Given the description of an element on the screen output the (x, y) to click on. 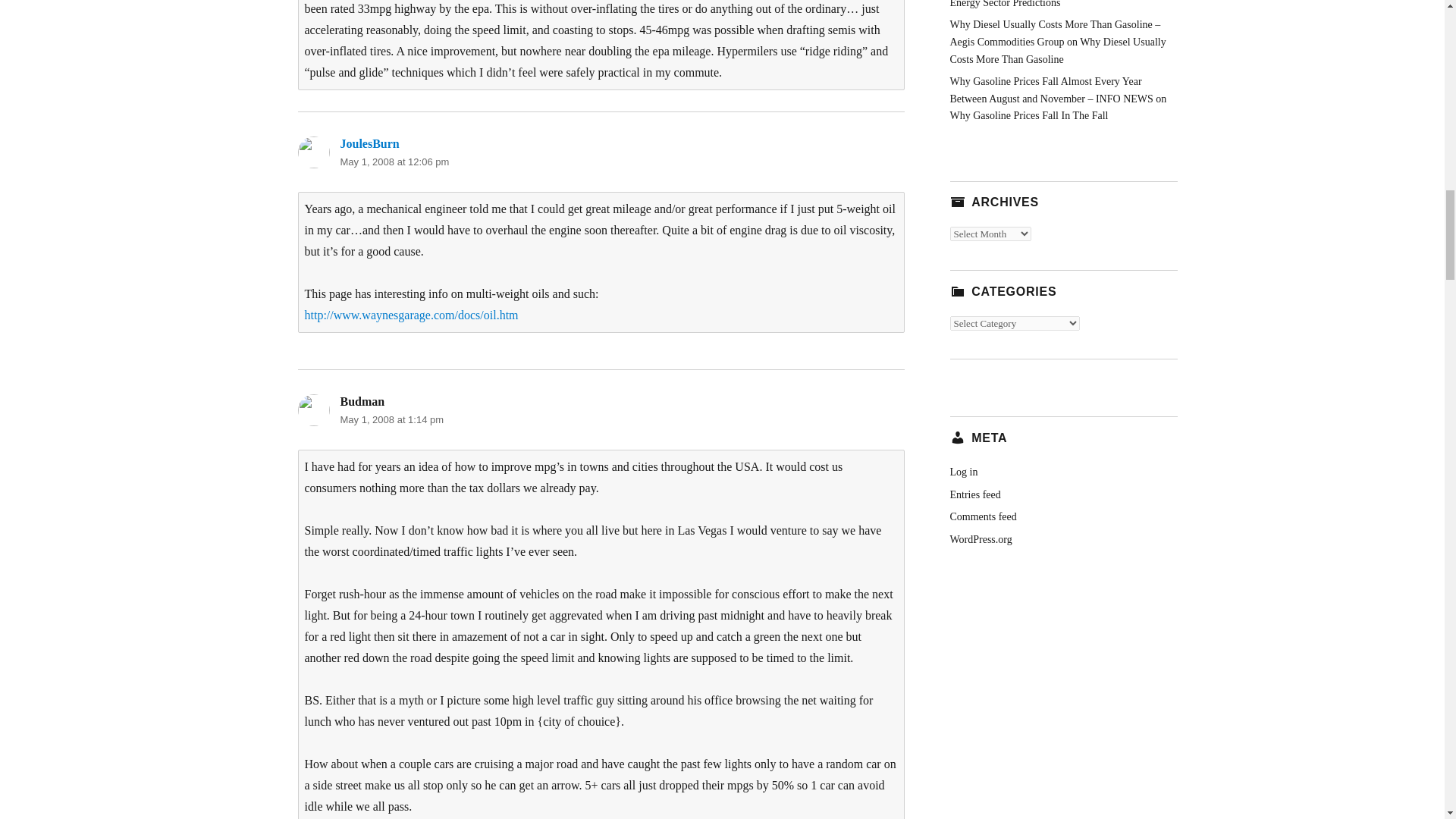
May 1, 2008 at 1:14 pm (391, 419)
May 1, 2008 at 12:06 pm (393, 161)
JoulesBurn (368, 143)
